Given the description of an element on the screen output the (x, y) to click on. 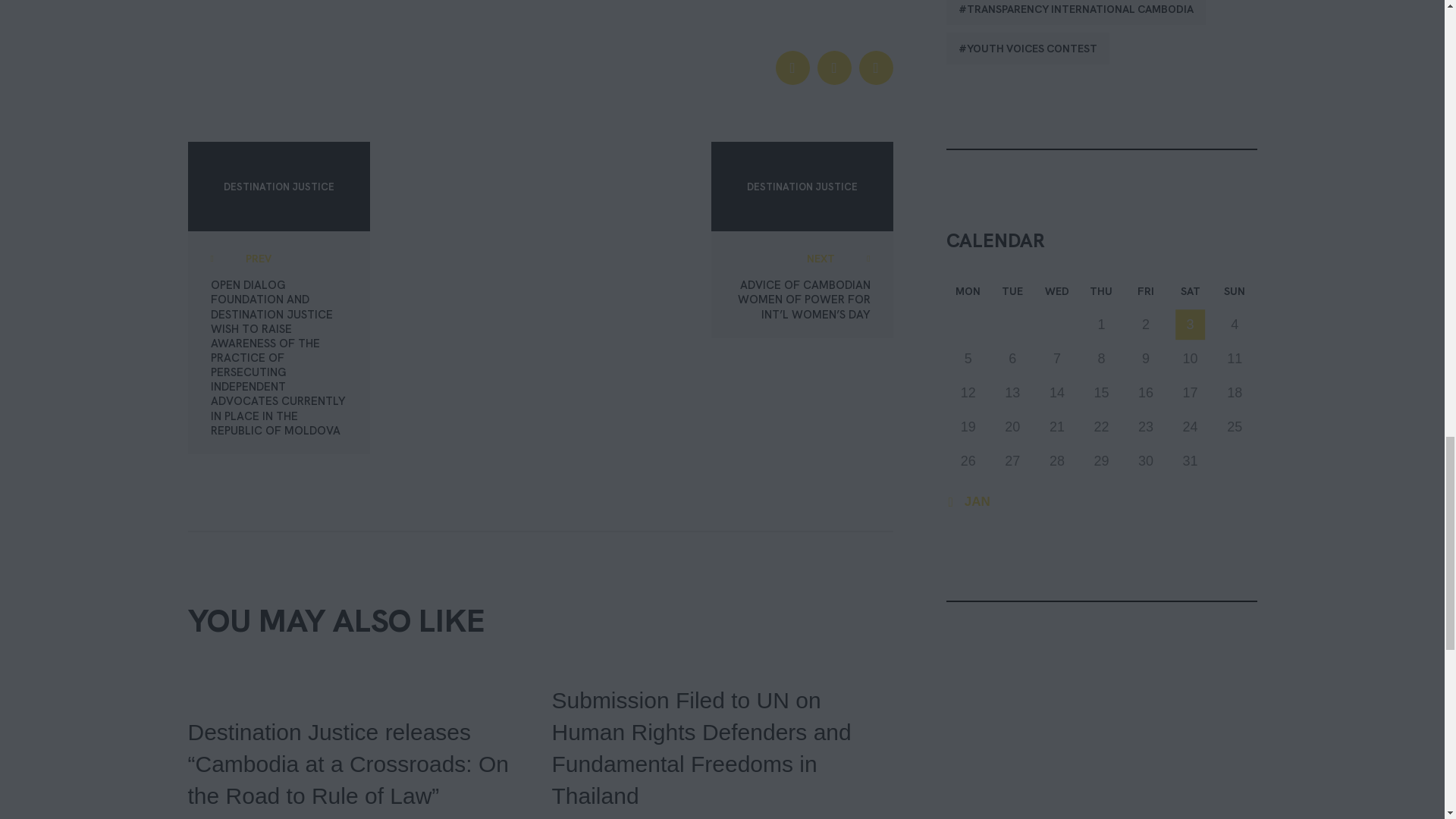
Saturday (1189, 294)
Sunday (1234, 294)
Friday (1146, 294)
Wednesday (1057, 294)
Tuesday (1012, 294)
Monday (968, 294)
Thursday (1101, 294)
